Given the description of an element on the screen output the (x, y) to click on. 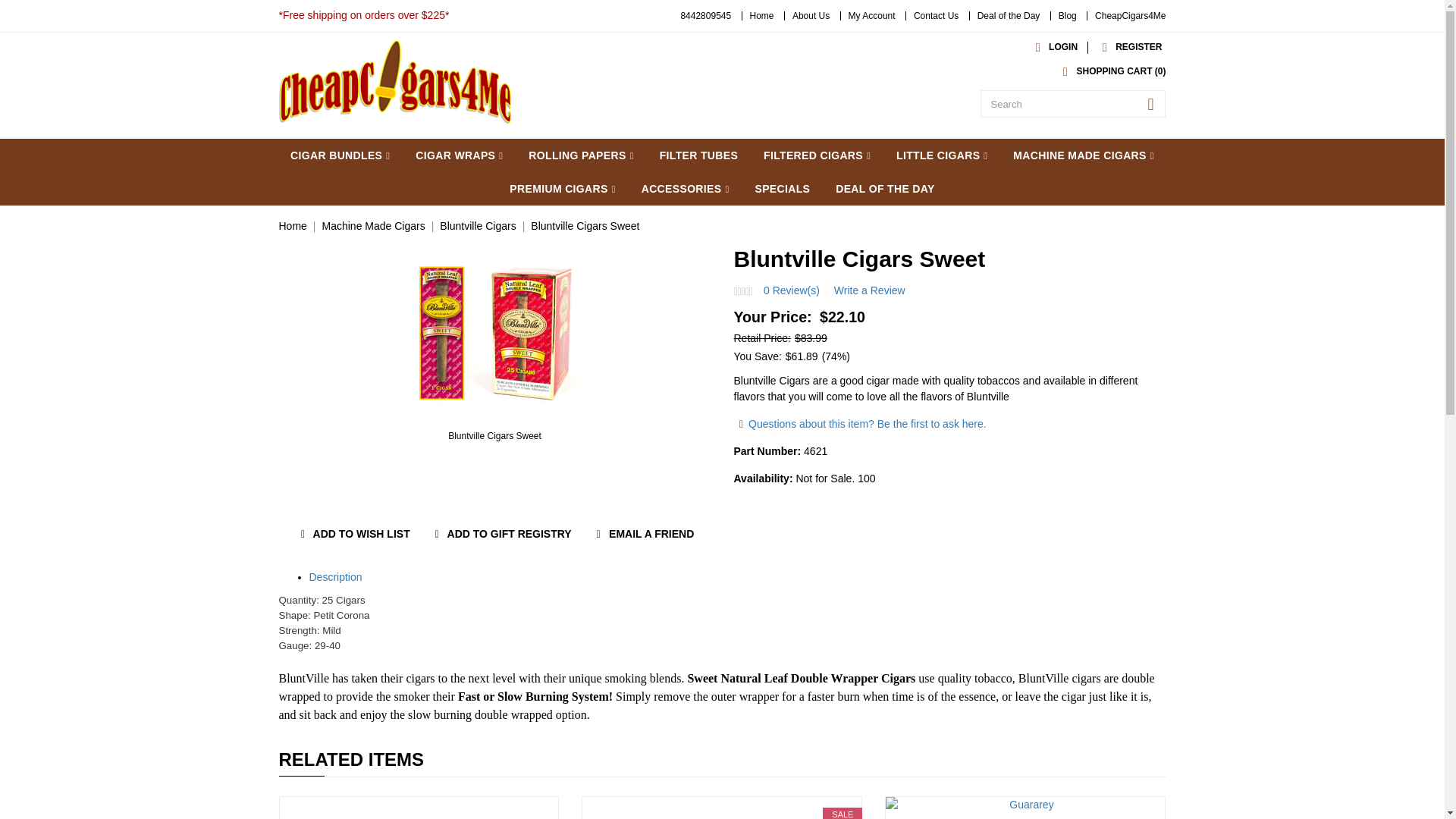
My Account (871, 15)
CIGAR WRAPS (458, 154)
CIGAR BUNDLES (340, 154)
CheapCigars4Me (1130, 15)
REGISTER (1128, 46)
8442809545 (704, 15)
Blog (1067, 15)
Bluntville Cigars Sweet  (495, 330)
About Us (810, 15)
LOGIN (1053, 46)
